Given the description of an element on the screen output the (x, y) to click on. 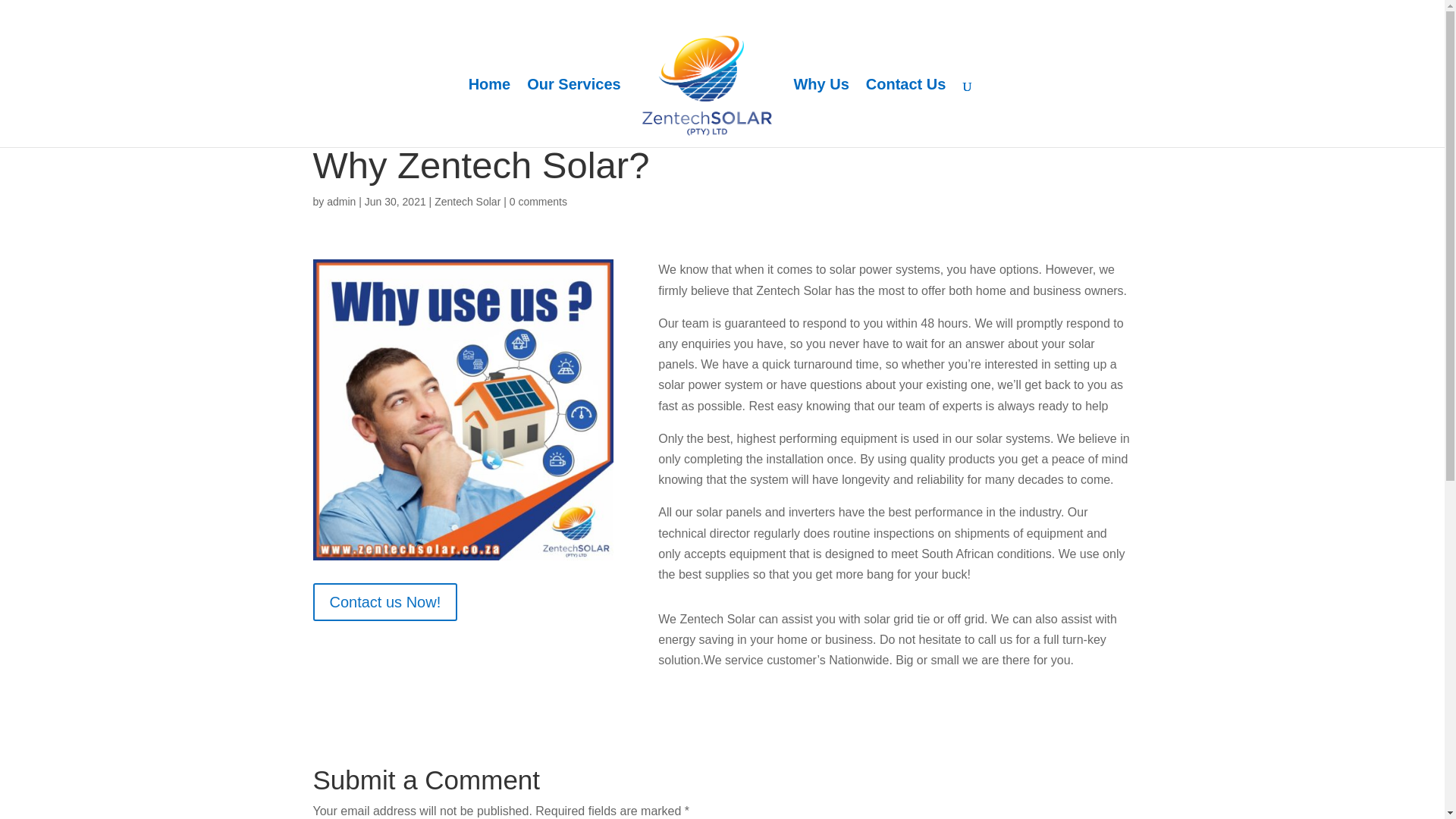
0 comments (538, 201)
Zentech Solar (466, 201)
Our Services (573, 112)
Posts by admin (340, 201)
Contact us Now! (385, 601)
admin (340, 201)
Contact Us (906, 112)
